Given the description of an element on the screen output the (x, y) to click on. 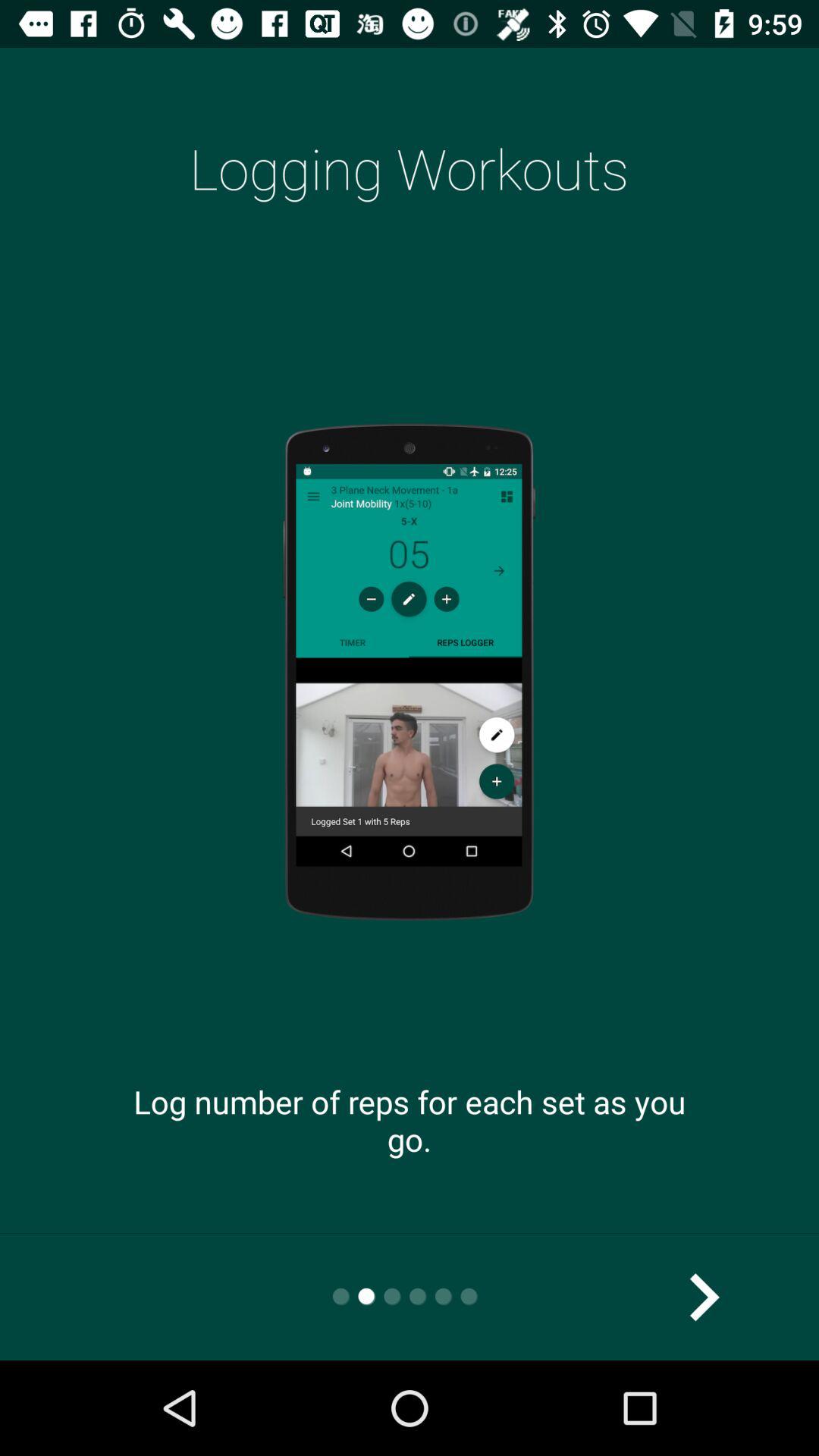
go to next (703, 1296)
